Given the description of an element on the screen output the (x, y) to click on. 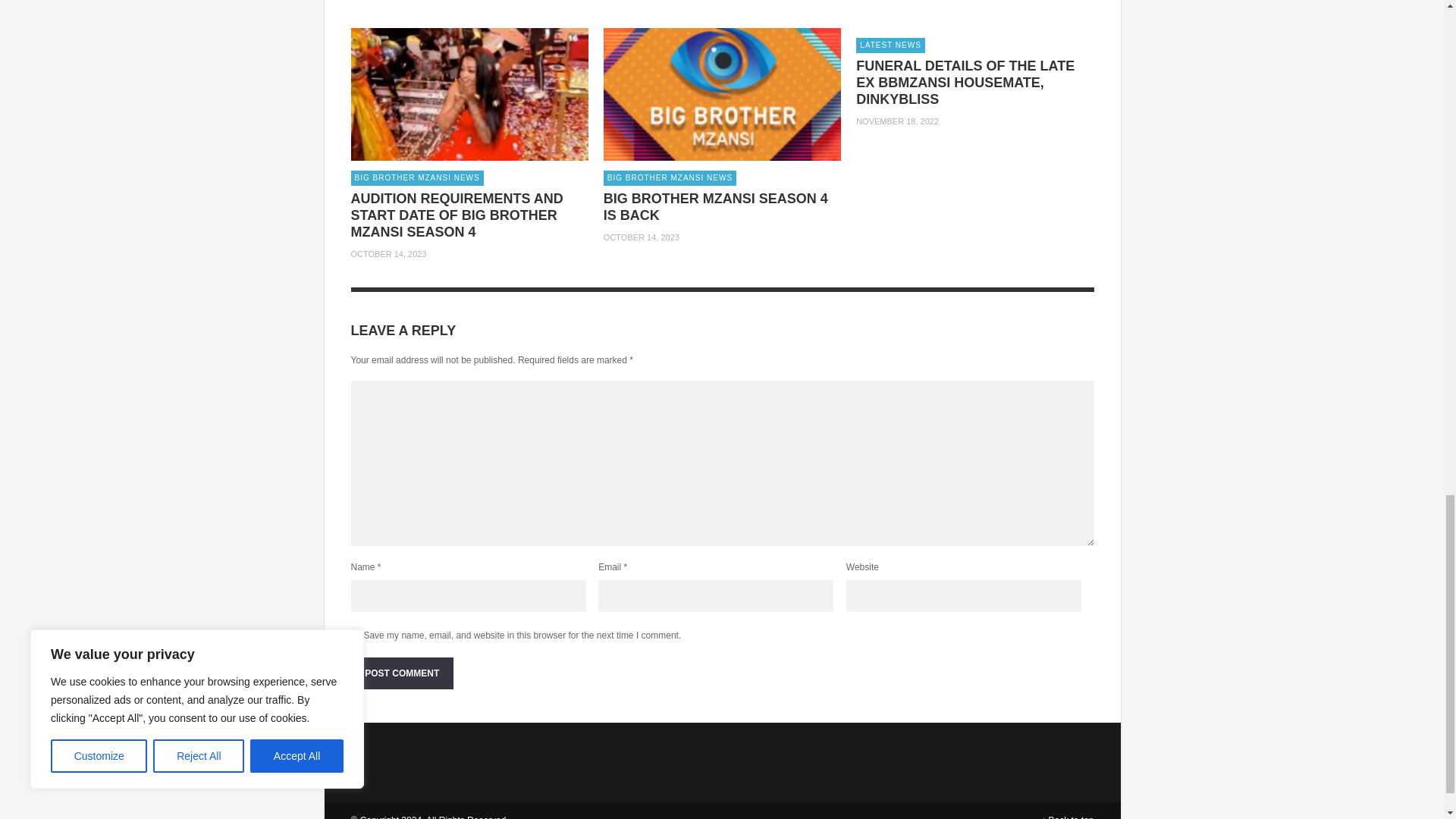
yes (354, 634)
Post Comment (401, 673)
